Given the description of an element on the screen output the (x, y) to click on. 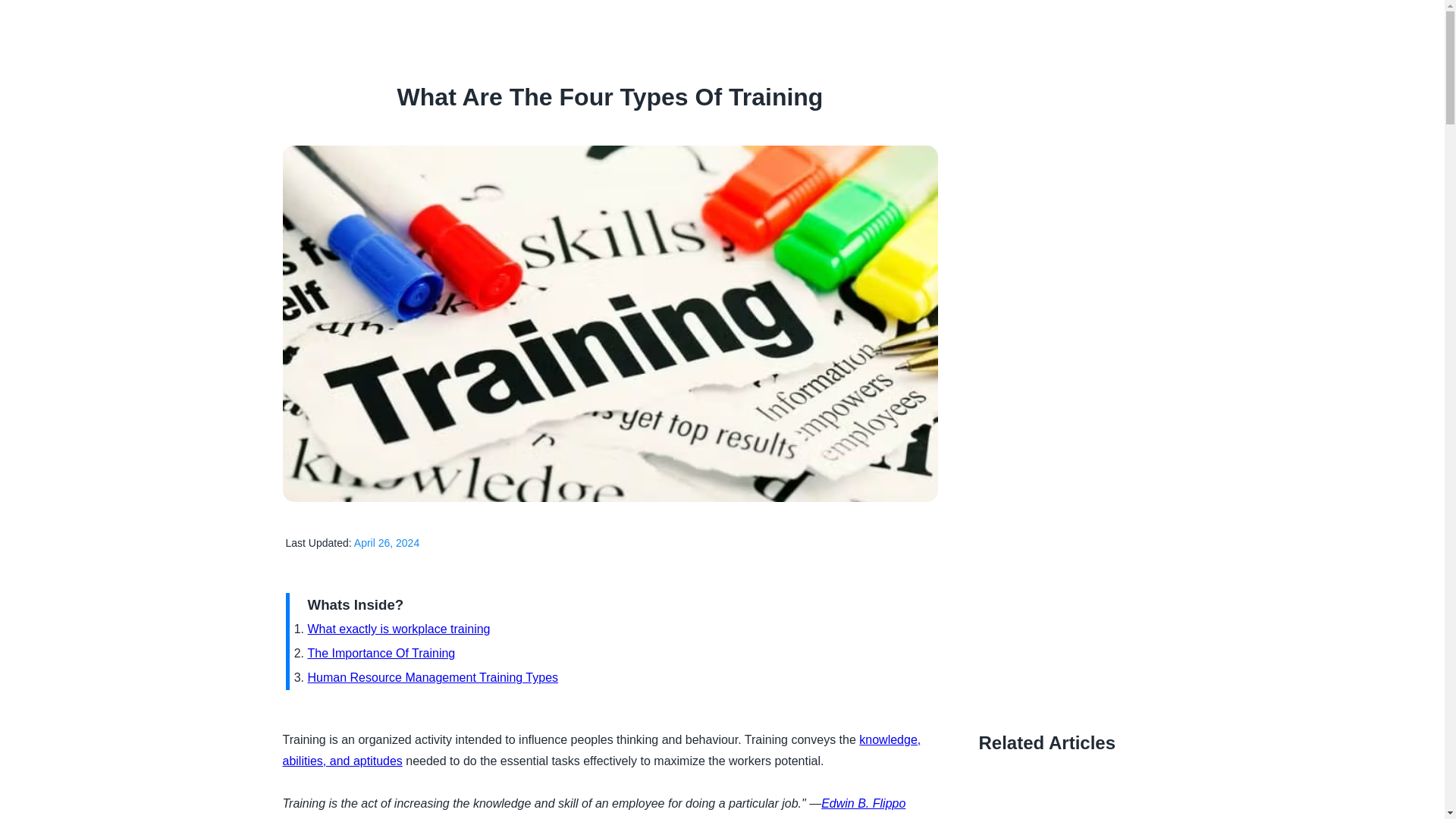
Edwin B. Flippo (863, 802)
What exactly is workplace training (398, 628)
knowledge, abilities, and aptitudes (601, 750)
Human Resource Management Training Types (433, 676)
The Importance Of Training (381, 653)
